Given the description of an element on the screen output the (x, y) to click on. 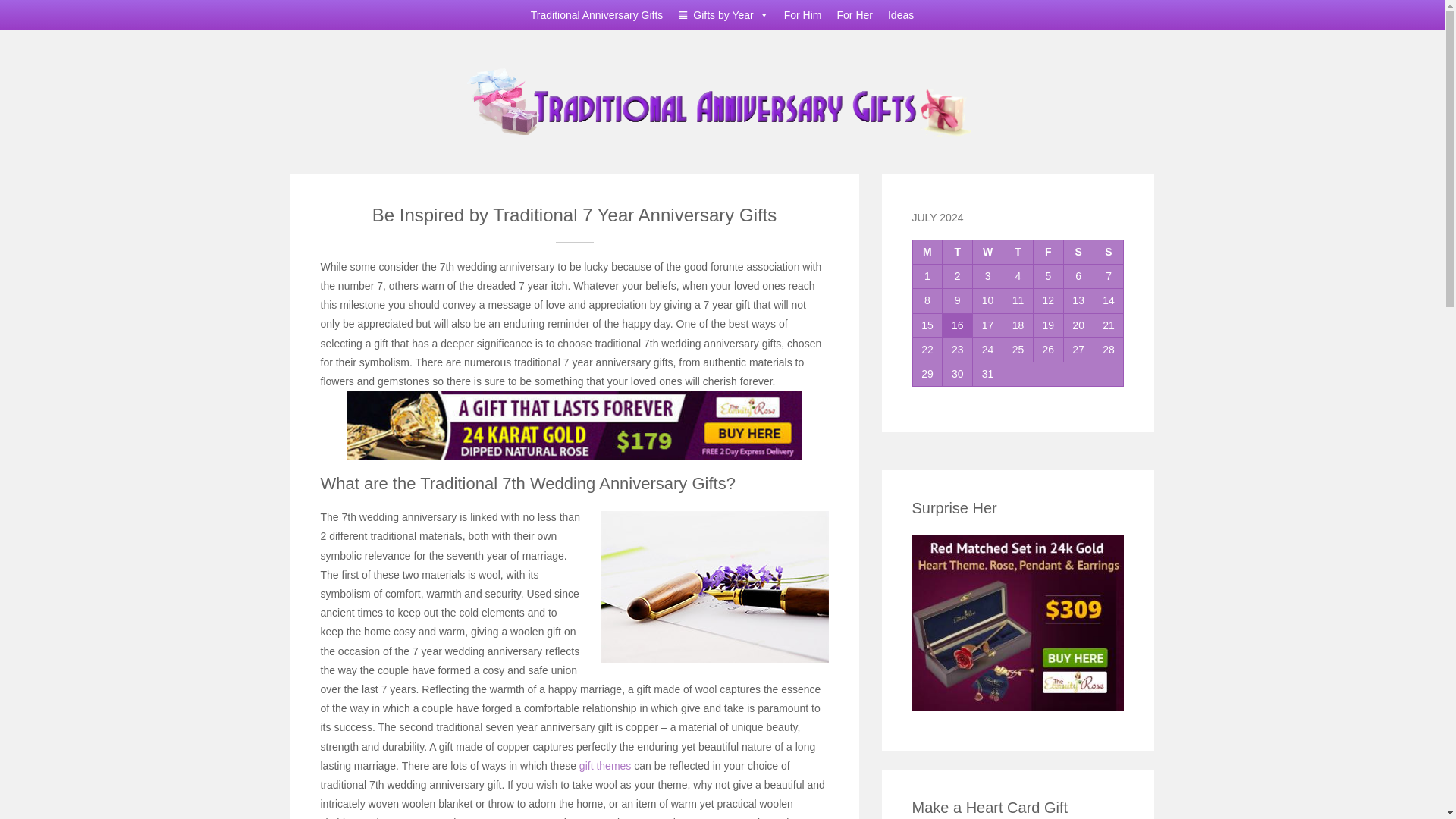
Gifts by Year (722, 15)
Thursday (1018, 251)
Traditional Anniversary Gifts (596, 15)
Wednesday (987, 251)
Saturday (1077, 251)
Friday (1047, 251)
Traditional Anniversary Gifts (722, 98)
Sunday (1108, 251)
Tuesday (957, 251)
Monday (927, 251)
